Given the description of an element on the screen output the (x, y) to click on. 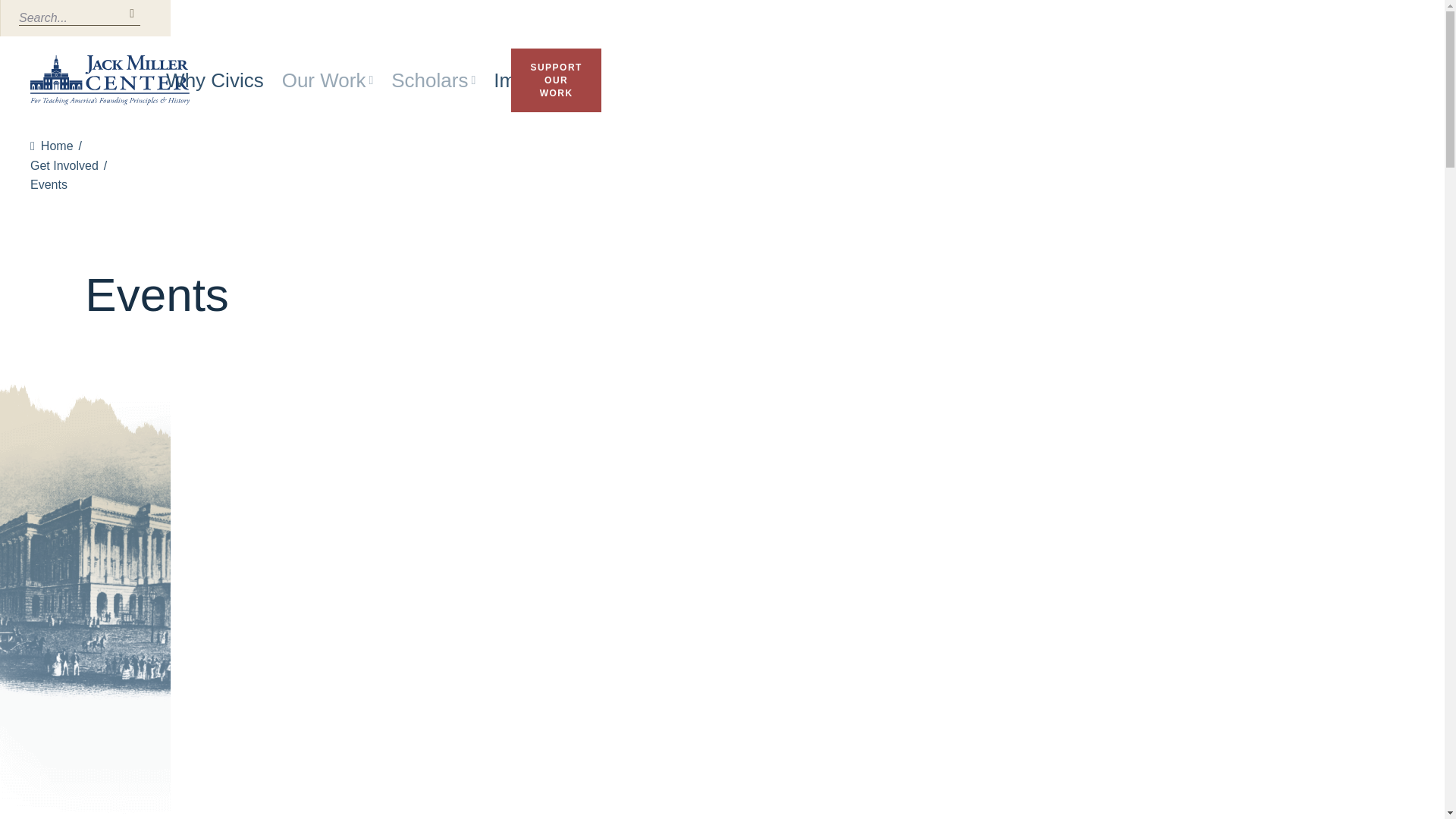
Our Work (328, 80)
Impact (523, 80)
SUPPORT OUR WORK (556, 80)
Scholars (433, 80)
Why Civics (214, 80)
